Given the description of an element on the screen output the (x, y) to click on. 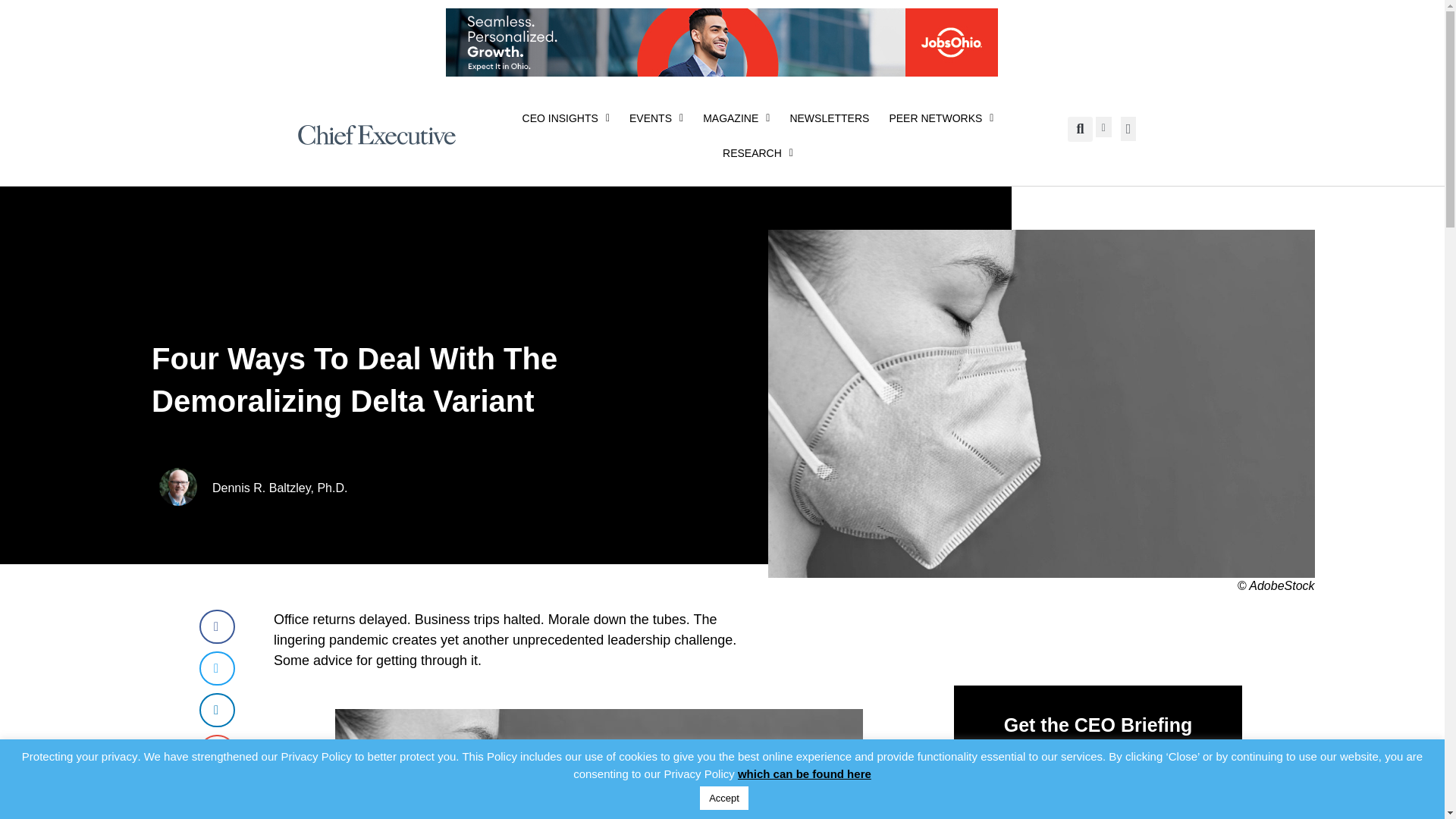
NEWSLETTERS (828, 117)
PEER NETWORKS (941, 117)
EVENTS (656, 117)
MAGAZINE (735, 117)
RESEARCH (758, 152)
CEO INSIGHTS (566, 117)
